Given the description of an element on the screen output the (x, y) to click on. 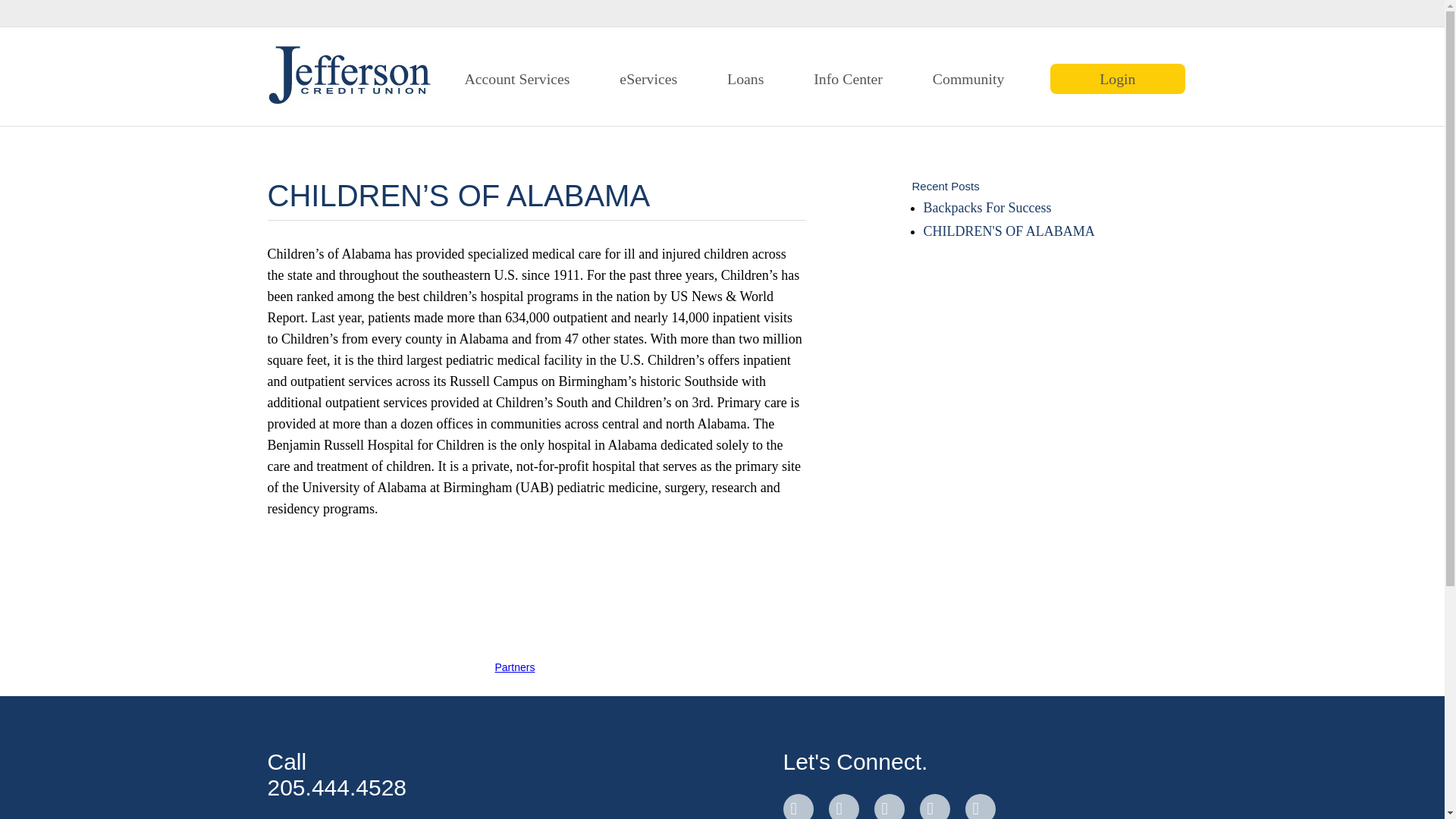
Loans (745, 77)
Account Services (516, 77)
contact us (978, 806)
eServices (648, 77)
LinkedIm (888, 806)
Twitter (843, 806)
YouTube (933, 806)
Facebook (797, 806)
Info Center (847, 77)
